Given the description of an element on the screen output the (x, y) to click on. 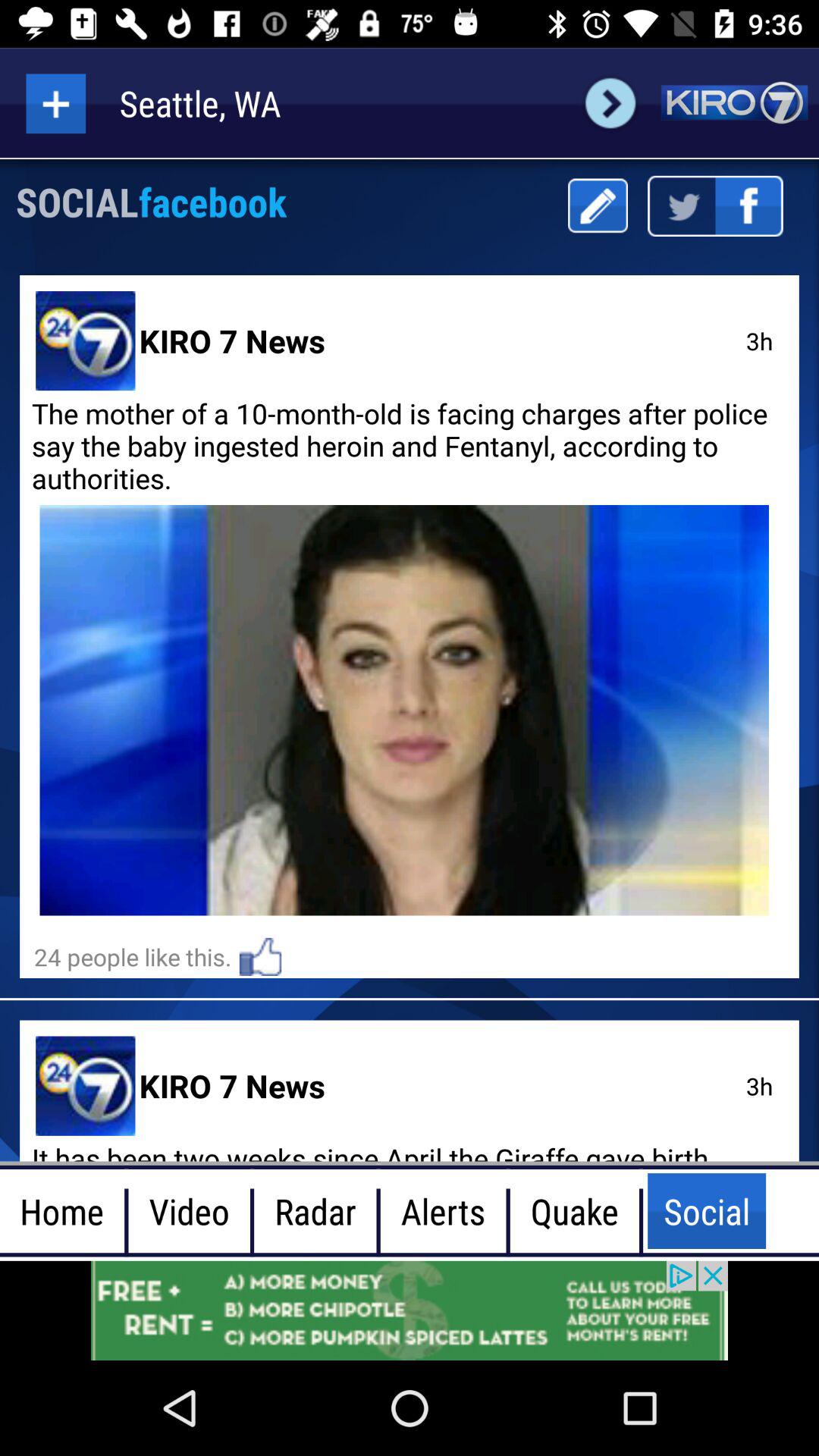
click edit option (597, 206)
